Given the description of an element on the screen output the (x, y) to click on. 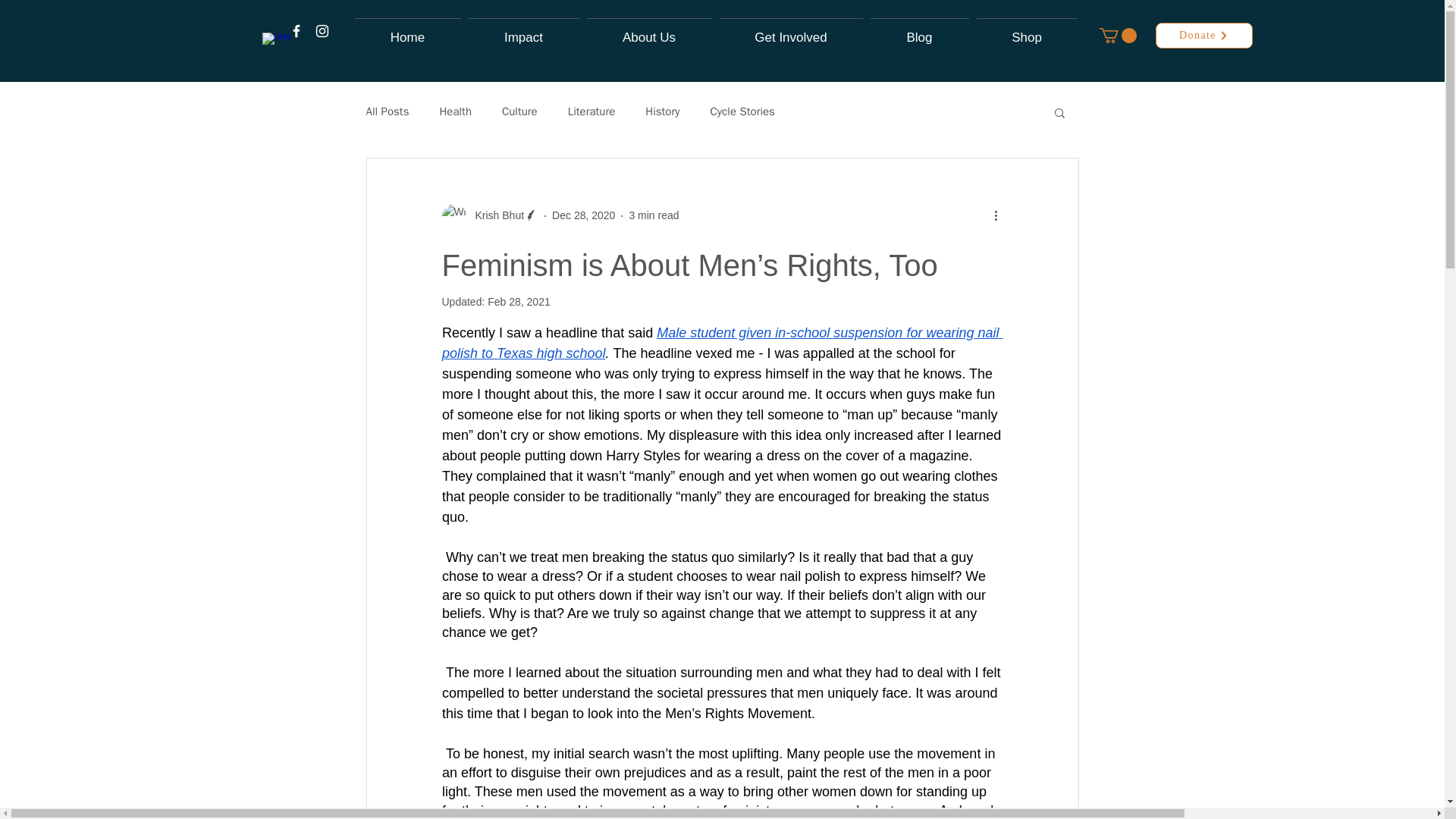
Home (407, 31)
Shop (1026, 31)
Blog (919, 31)
Health (455, 111)
Krish Bhut (489, 215)
History (662, 111)
3 min read (653, 215)
Dec 28, 2020 (582, 215)
Literature (591, 111)
About Us (648, 31)
Get Involved (791, 31)
Impact (523, 31)
Feb 28, 2021 (518, 301)
Donate (1204, 35)
Cycle Stories (742, 111)
